Given the description of an element on the screen output the (x, y) to click on. 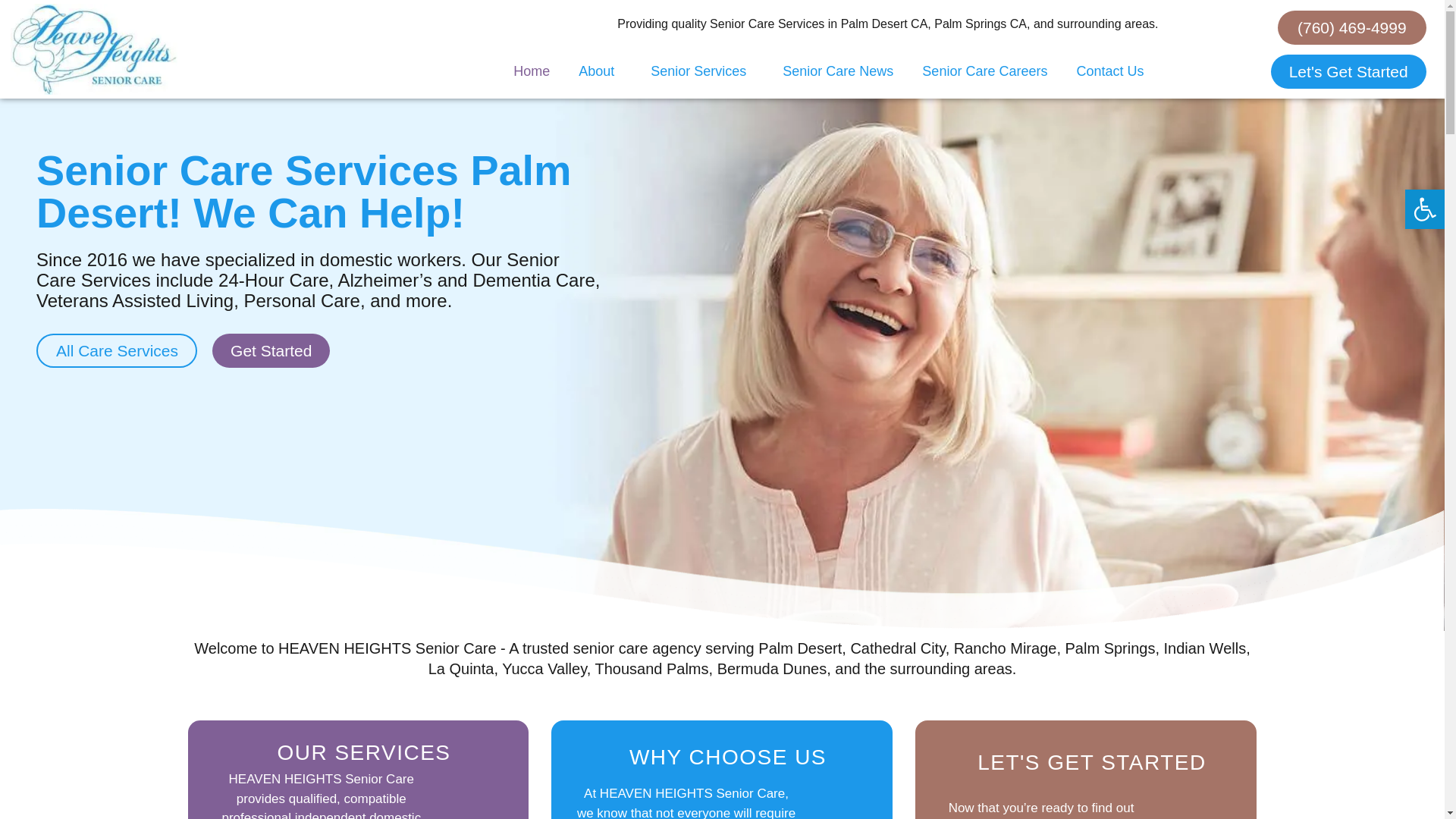
Let's Get Started (1348, 71)
Senior Services (702, 70)
Accessibility Tools (1424, 209)
Contact Us (1109, 70)
Senior Care Careers (984, 70)
Senior Care News (837, 70)
About (600, 70)
Home (531, 70)
